Given the description of an element on the screen output the (x, y) to click on. 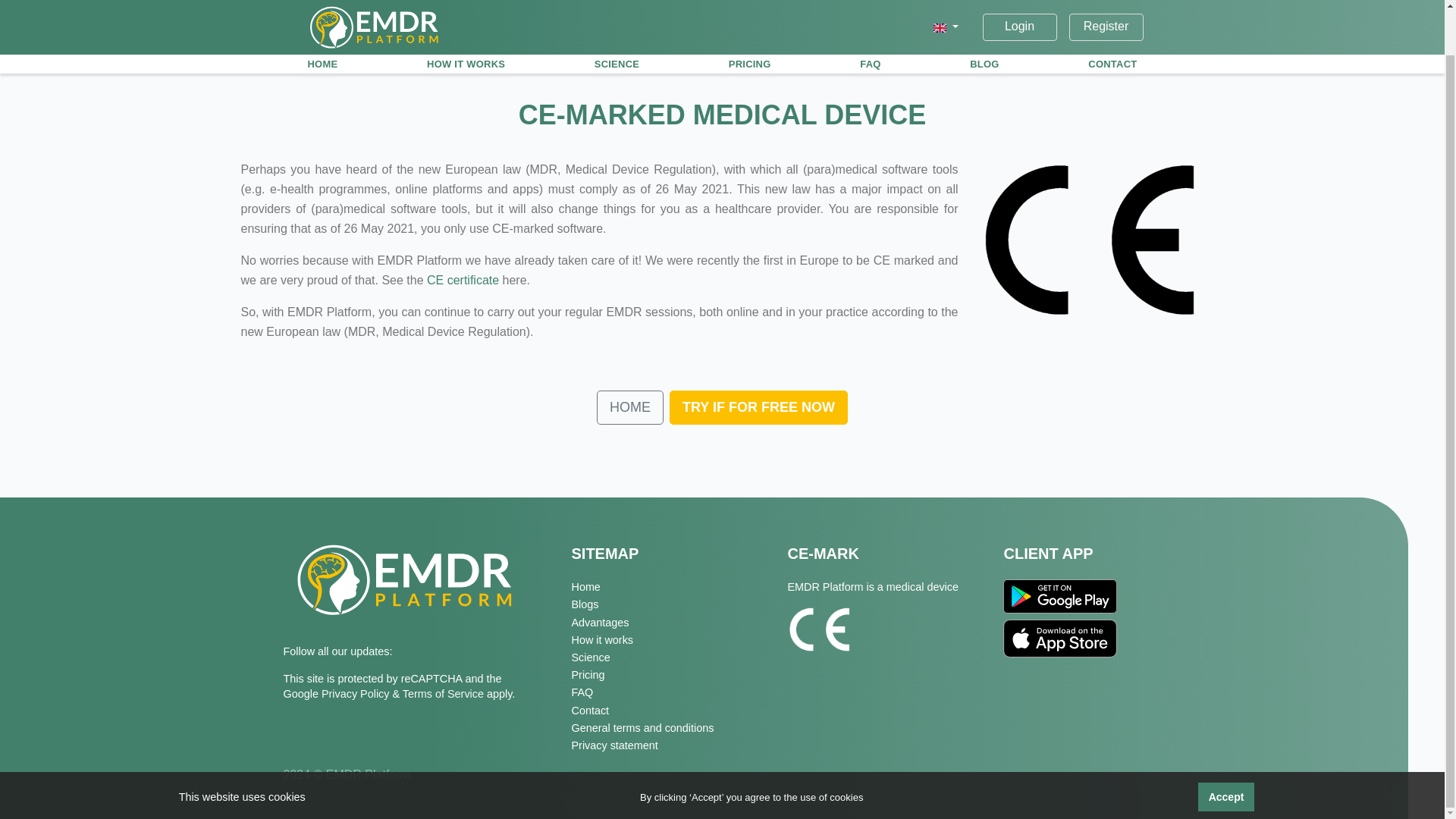
Science (667, 657)
Terms of Service (444, 693)
Accept (1226, 748)
Home (667, 586)
HOME (322, 15)
FAQ (869, 15)
CONTACT (1111, 15)
How it works (667, 639)
PRICING (749, 15)
CE certificate (462, 279)
